Given the description of an element on the screen output the (x, y) to click on. 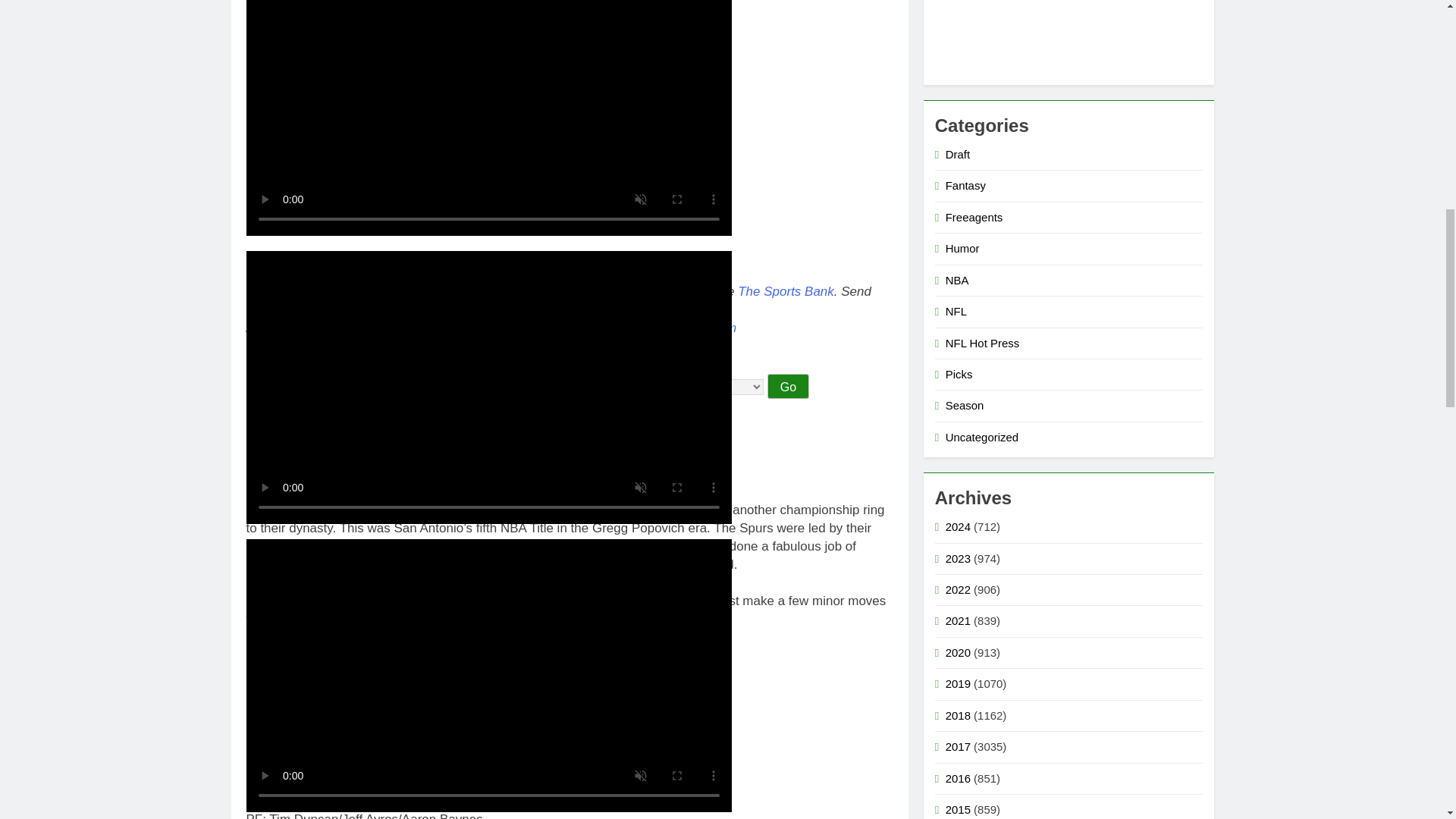
Go (788, 385)
